Given the description of an element on the screen output the (x, y) to click on. 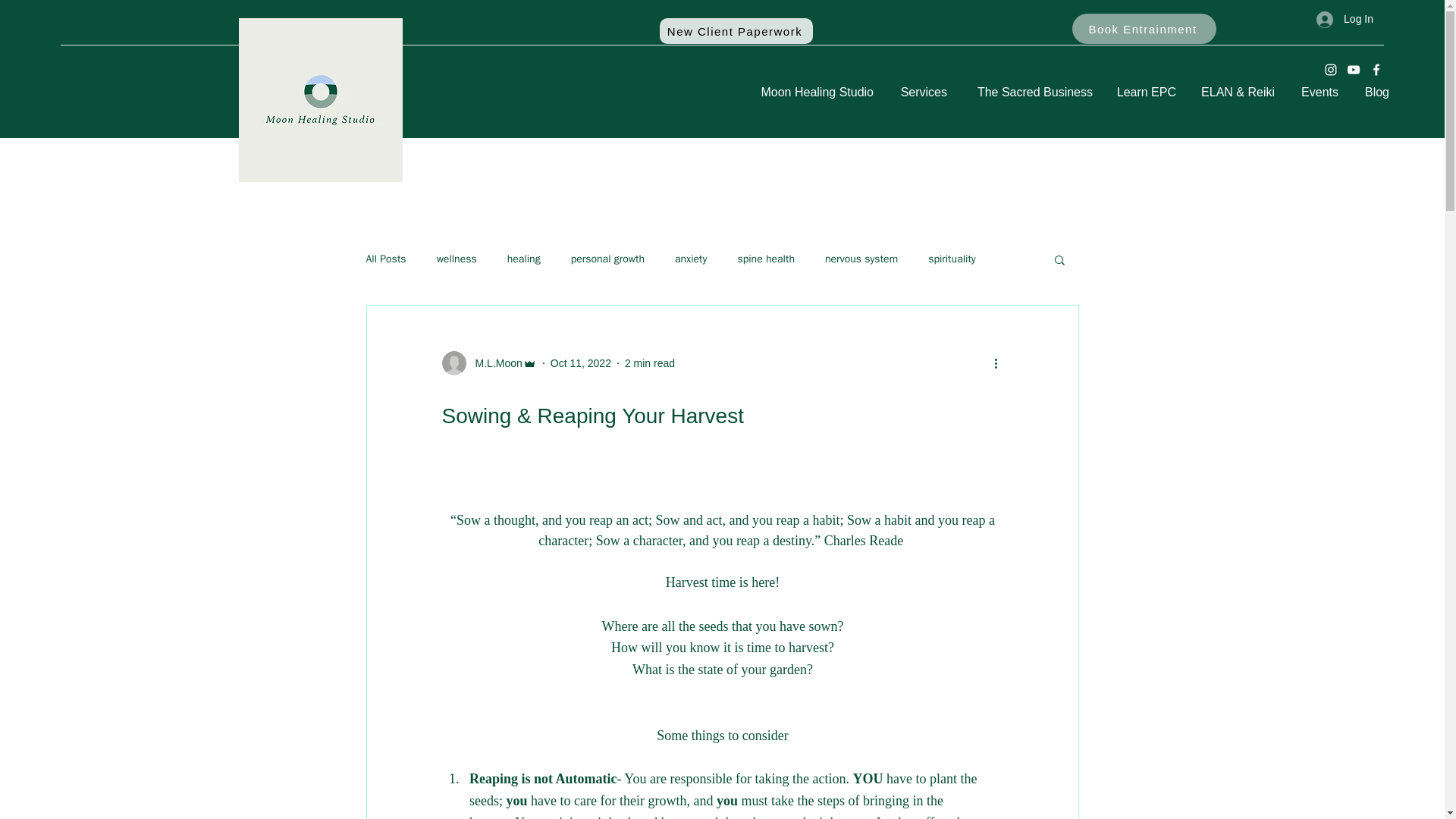
The Sacred Business (1031, 91)
All Posts (385, 259)
wellness (456, 259)
Moon Healing Studio (812, 91)
M.L.Moon (493, 362)
Learn EPC (1146, 91)
nervous system (861, 259)
2 min read (649, 362)
Book Entrainment (1143, 28)
spine health (764, 259)
